Given the description of an element on the screen output the (x, y) to click on. 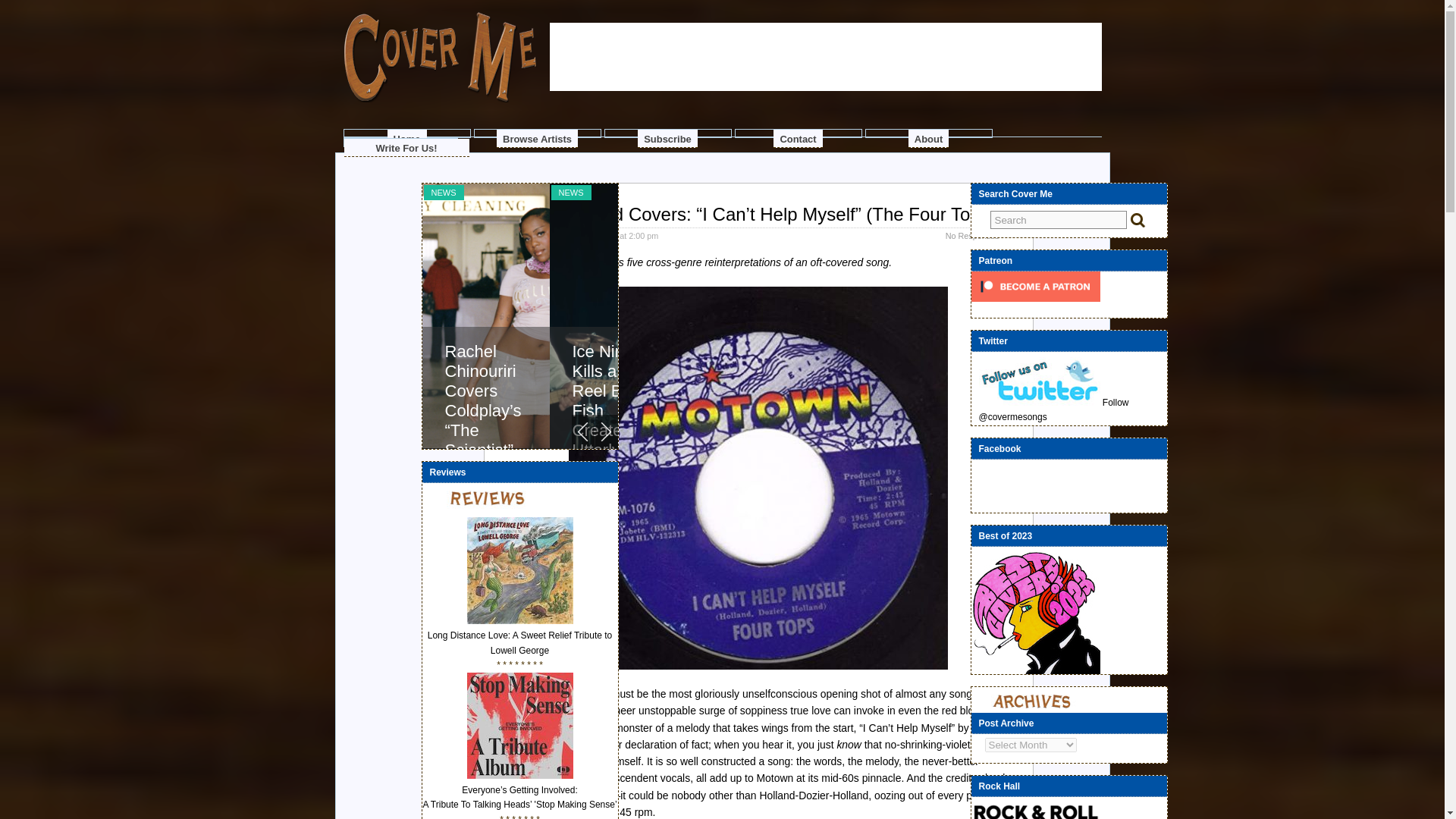
Search (1058, 219)
Seuras Og (597, 235)
Five Good Covers (538, 262)
Subscribe (667, 138)
Browse Artists (537, 138)
About (928, 138)
Contact (797, 138)
Home (406, 138)
Write For Us! (405, 147)
Search (1058, 219)
Advertisement (824, 140)
NEWS (443, 192)
